Given the description of an element on the screen output the (x, y) to click on. 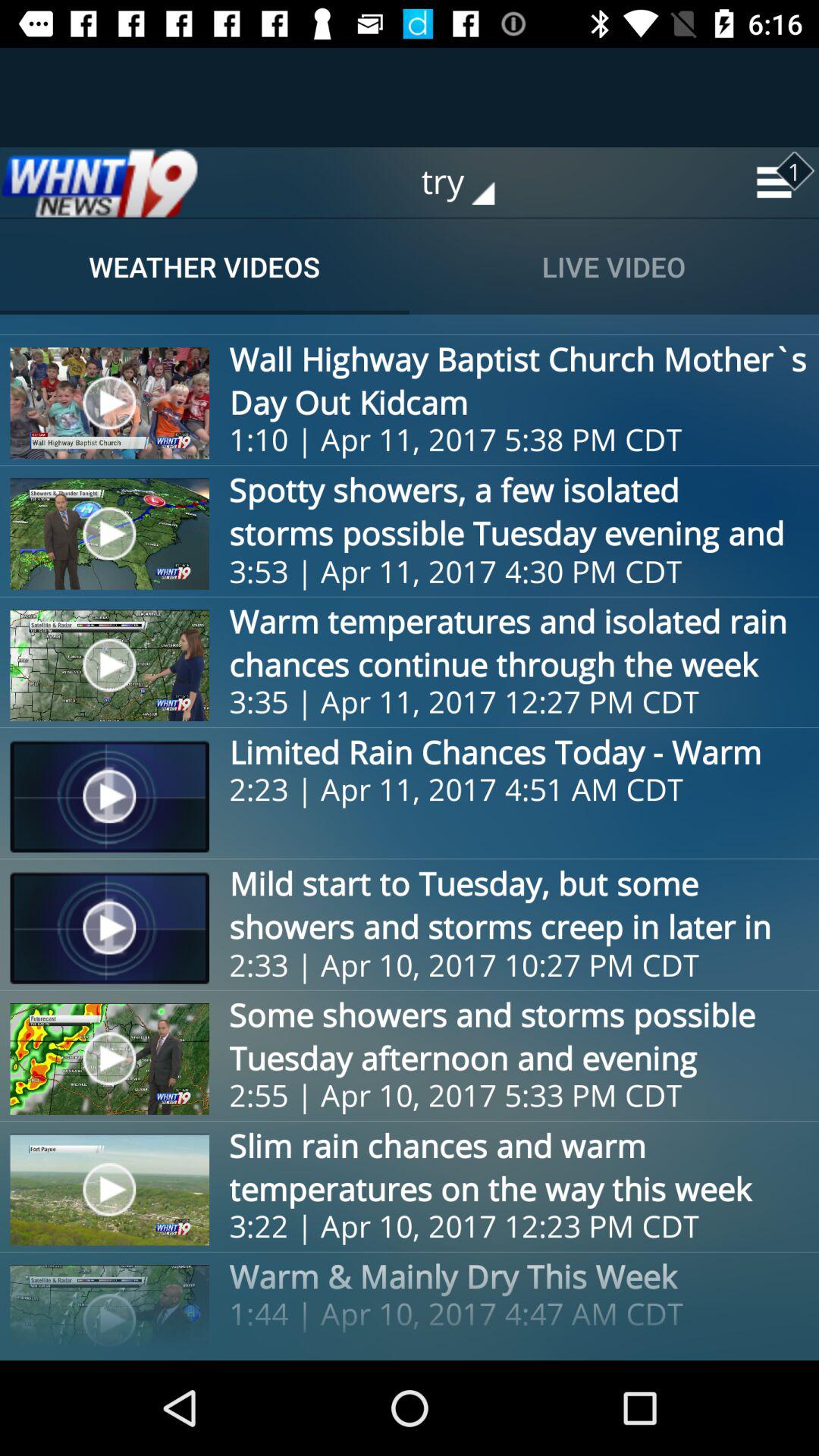
jump to try (468, 182)
